Given the description of an element on the screen output the (x, y) to click on. 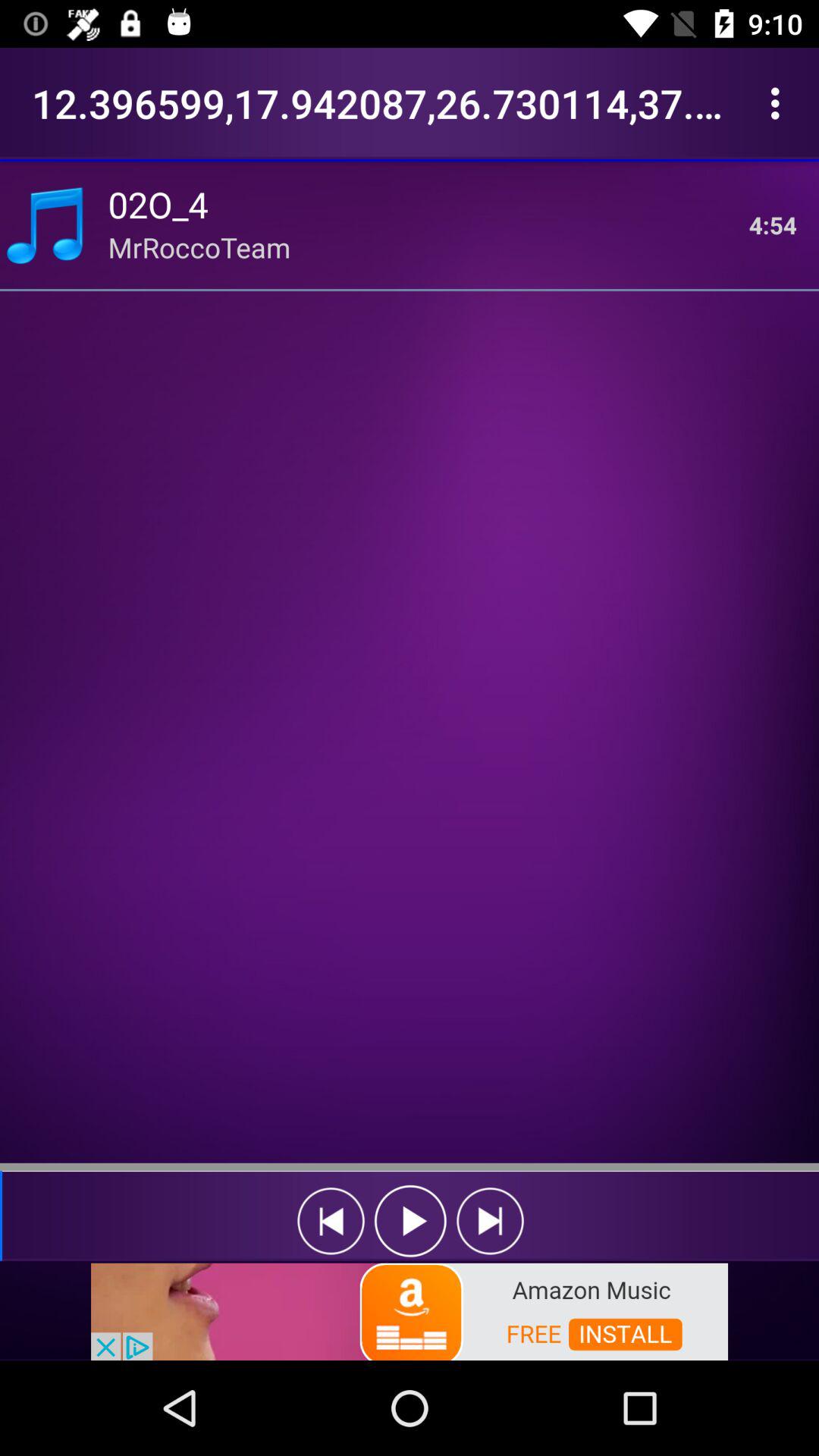
advertisement (409, 1310)
